Given the description of an element on the screen output the (x, y) to click on. 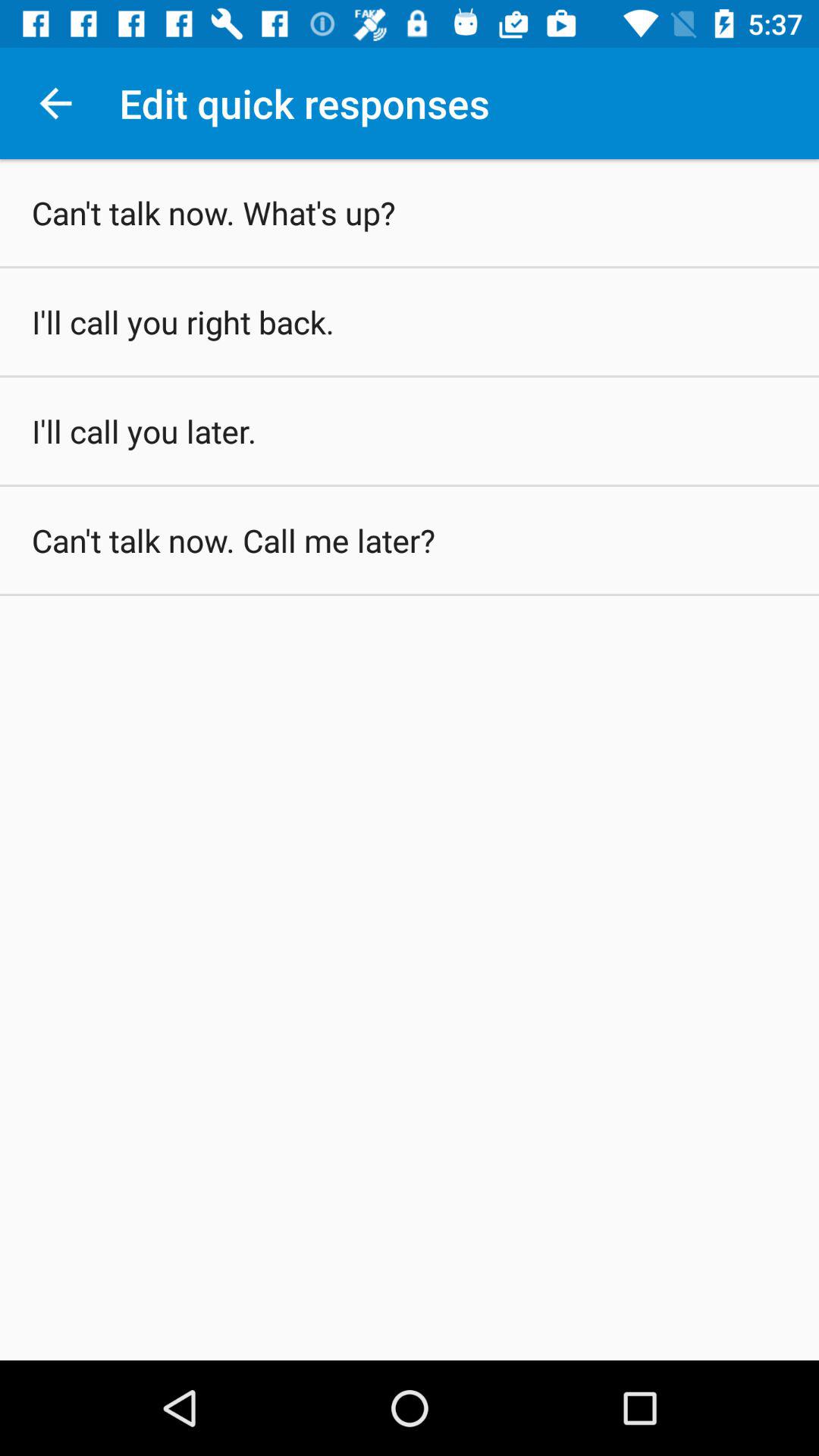
click the icon above can t talk icon (55, 103)
